Given the description of an element on the screen output the (x, y) to click on. 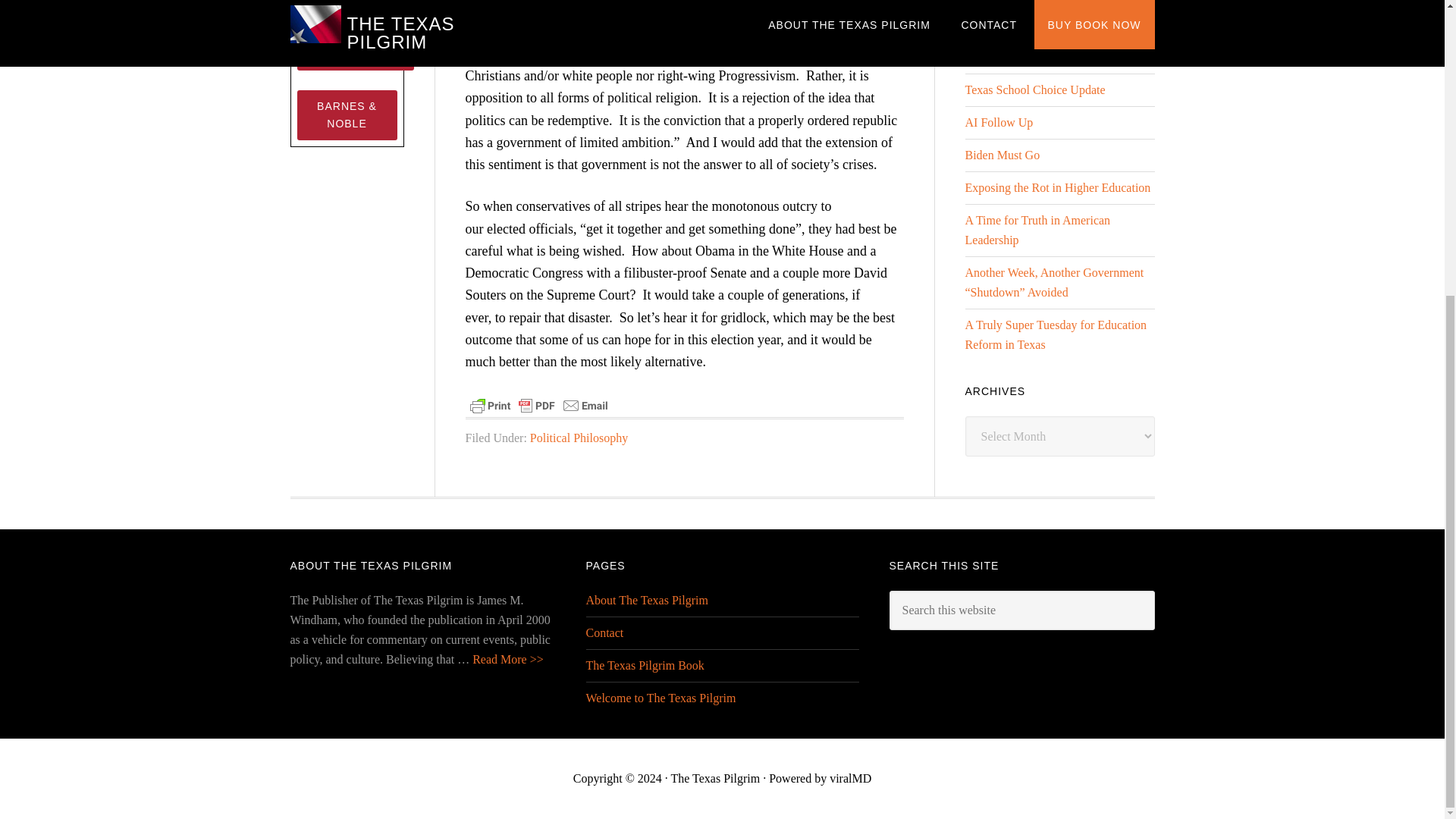
Texas School Choice Update (1034, 89)
A Time for Truth in American Leadership (1036, 229)
The Texas Pilgrim Book (644, 665)
Exposing the Rot in Higher Education (1056, 187)
A Truly Super Tuesday for Education Reform in Texas (1055, 334)
About The Texas Pilgrim (646, 599)
AI Follow Up (997, 122)
Political Philosophy (578, 437)
viralMD (849, 778)
